Given the description of an element on the screen output the (x, y) to click on. 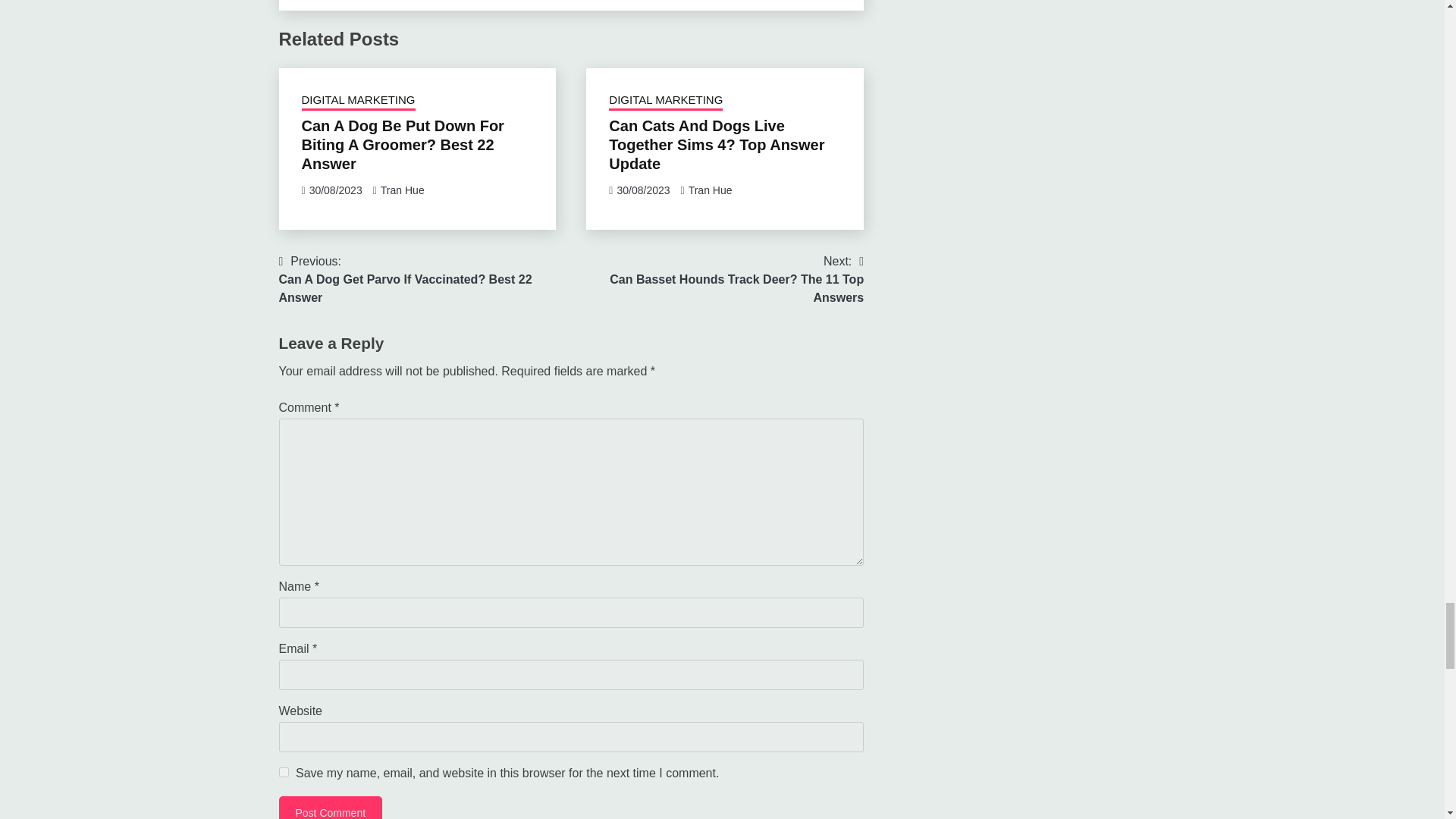
Tran Hue (402, 190)
Post Comment (330, 807)
DIGITAL MARKETING (665, 101)
Can Cats And Dogs Live Together Sims 4? Top Answer Update (716, 144)
DIGITAL MARKETING (425, 279)
yes (357, 101)
Tran Hue (283, 772)
Can A Dog Be Put Down For Biting A Groomer? Best 22 Answer (710, 190)
